Given the description of an element on the screen output the (x, y) to click on. 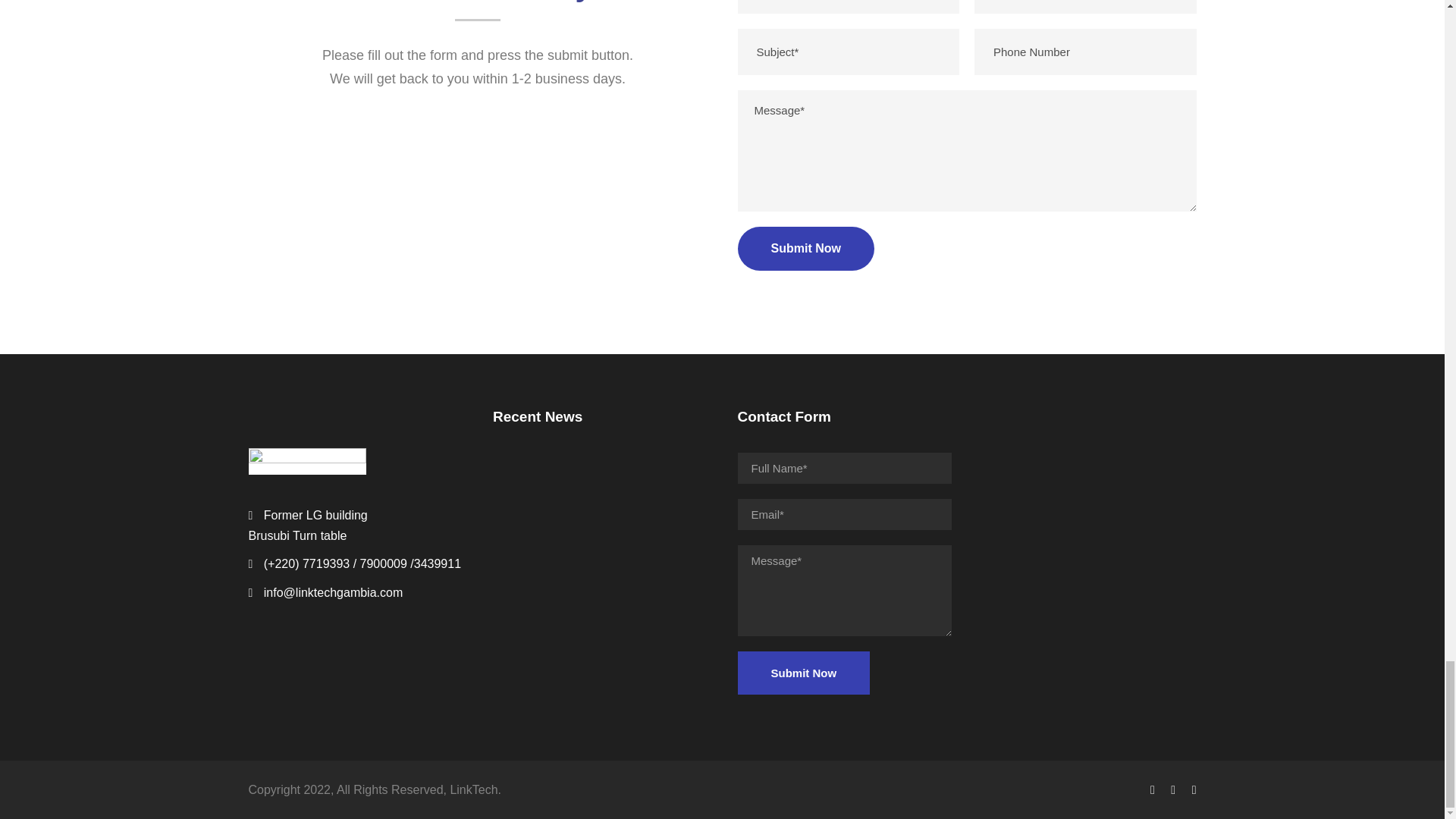
Submit Now (804, 248)
Submit Now (802, 672)
Submit Now (804, 248)
Submit Now (802, 672)
